Given the description of an element on the screen output the (x, y) to click on. 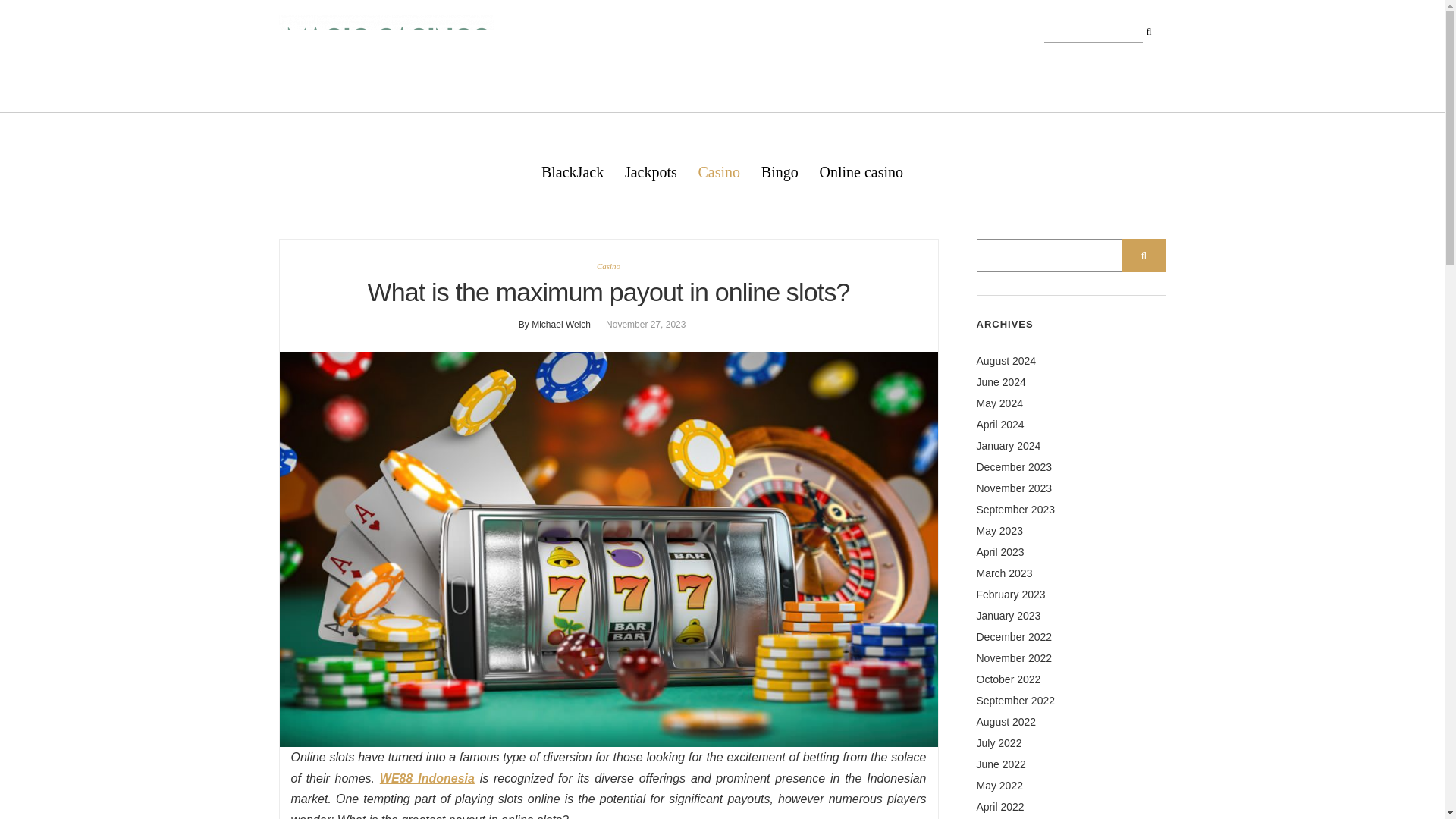
Casino (608, 266)
Casino (718, 171)
September 2023 (1015, 509)
October 2022 (1008, 679)
Online casino (860, 171)
May 2023 (999, 530)
January 2024 (1008, 445)
November 2022 (1014, 657)
December 2022 (1014, 636)
BlackJack (572, 171)
